Given the description of an element on the screen output the (x, y) to click on. 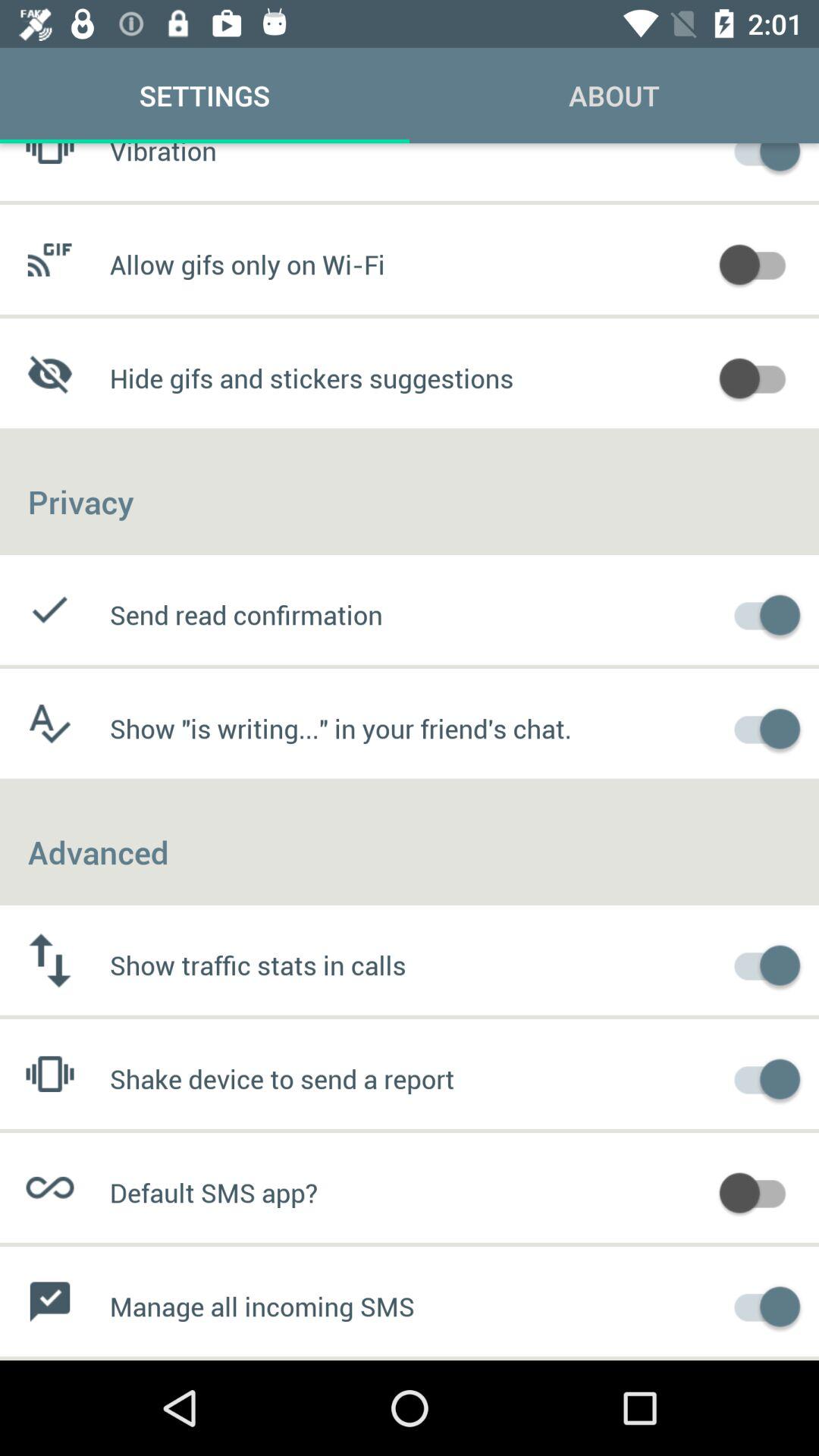
toggle switch (759, 159)
